Given the description of an element on the screen output the (x, y) to click on. 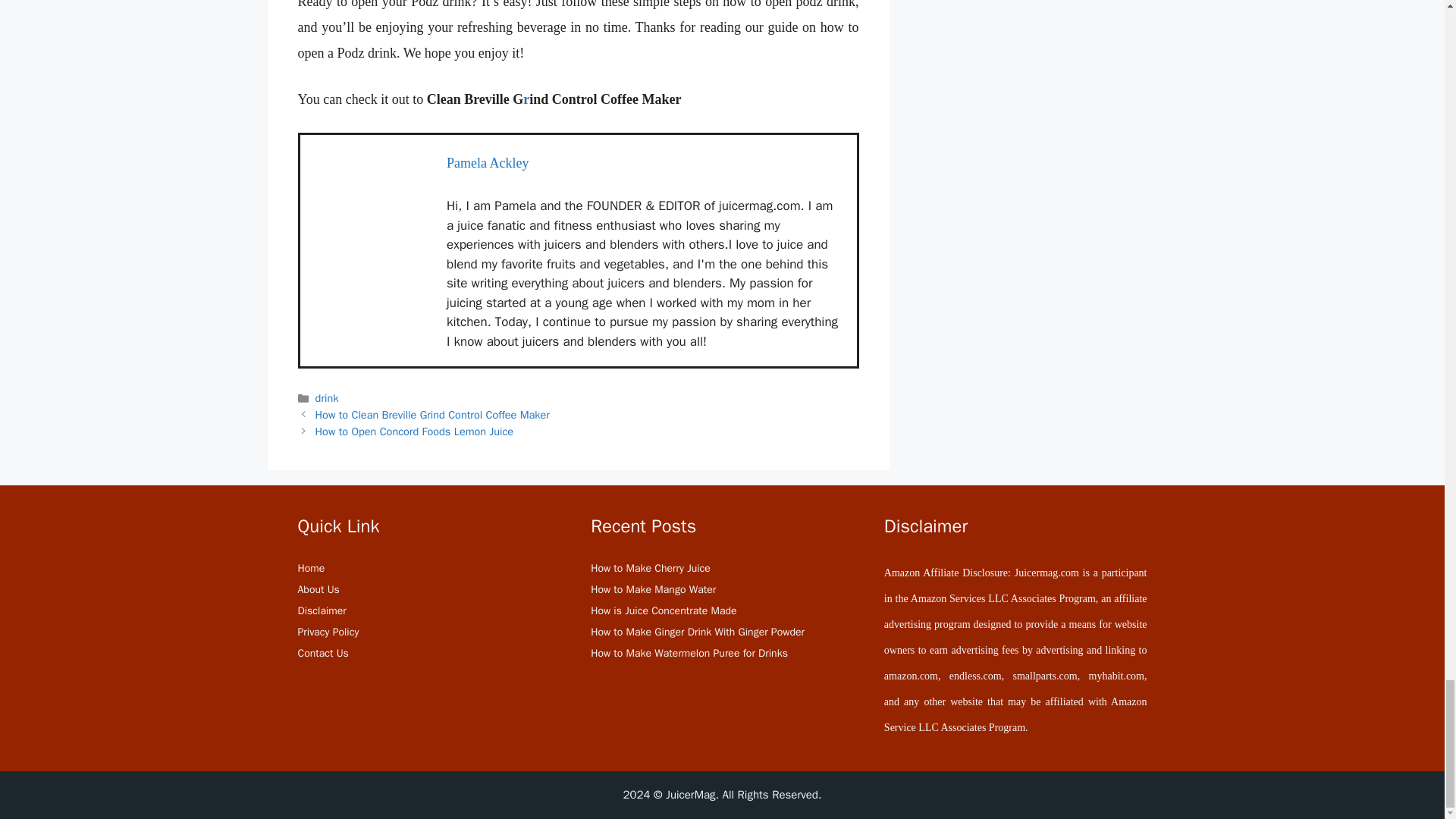
How to Clean Breville Grind Control Coffee Maker (432, 414)
Pamela Ackley (487, 162)
How to Open Concord Foods Lemon Juice (414, 431)
drink (327, 397)
